Given the description of an element on the screen output the (x, y) to click on. 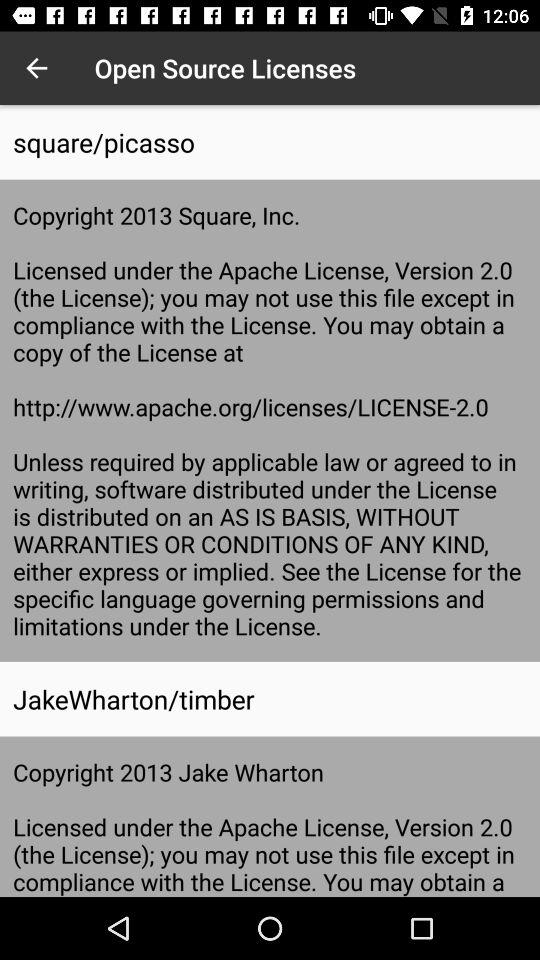
select the item next to the open source licenses item (36, 68)
